Given the description of an element on the screen output the (x, y) to click on. 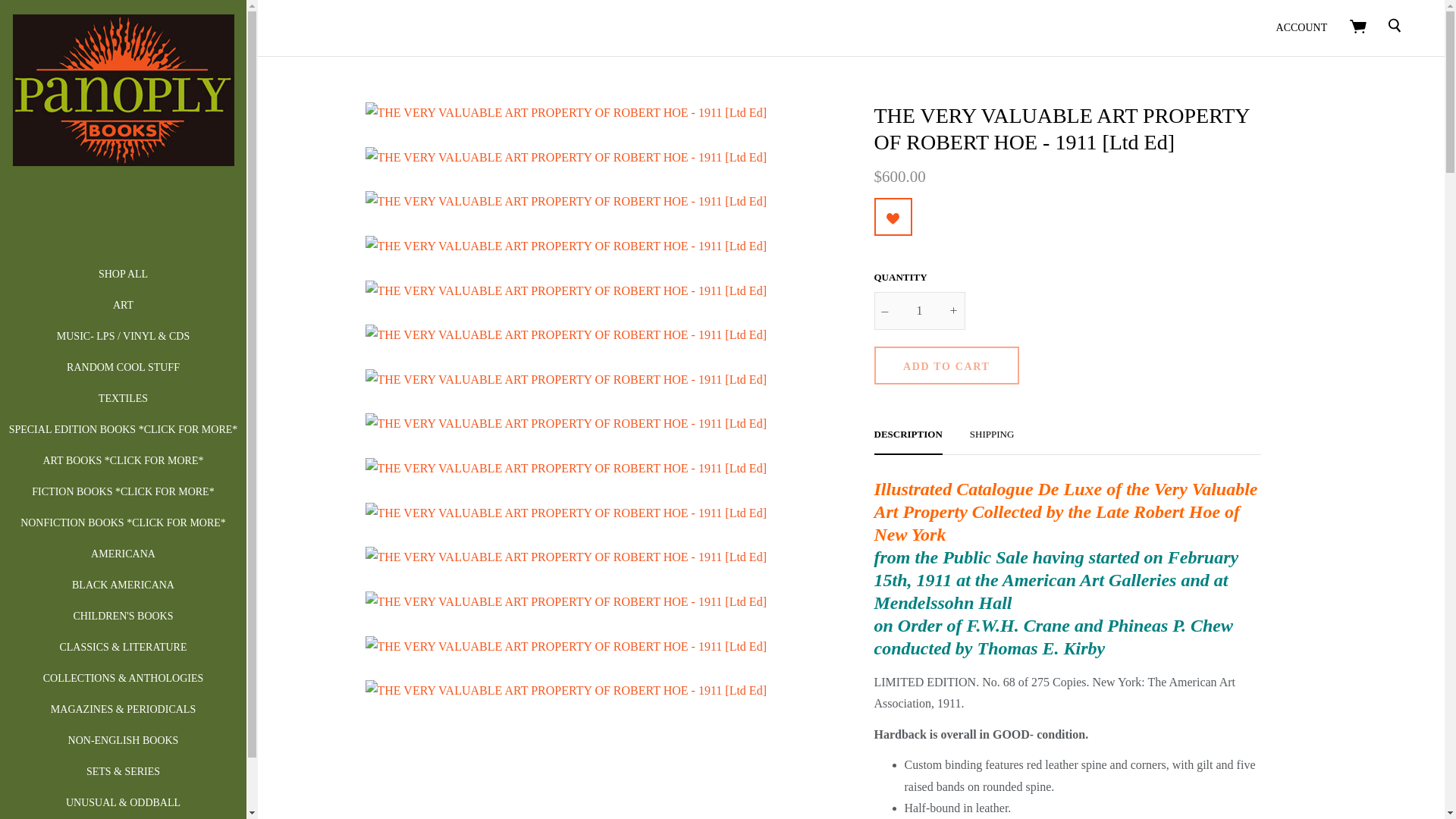
TEXTILES (123, 398)
CART (1358, 26)
SHOP ALL (123, 274)
NON-ENGLISH BOOKS (123, 740)
ART (123, 305)
1 (918, 310)
AMERICANA (122, 553)
Add To Cart (946, 365)
ACCOUNT.WISHLISTS.HEADING (892, 218)
RANDOM COOL STUFF (122, 367)
